Given the description of an element on the screen output the (x, y) to click on. 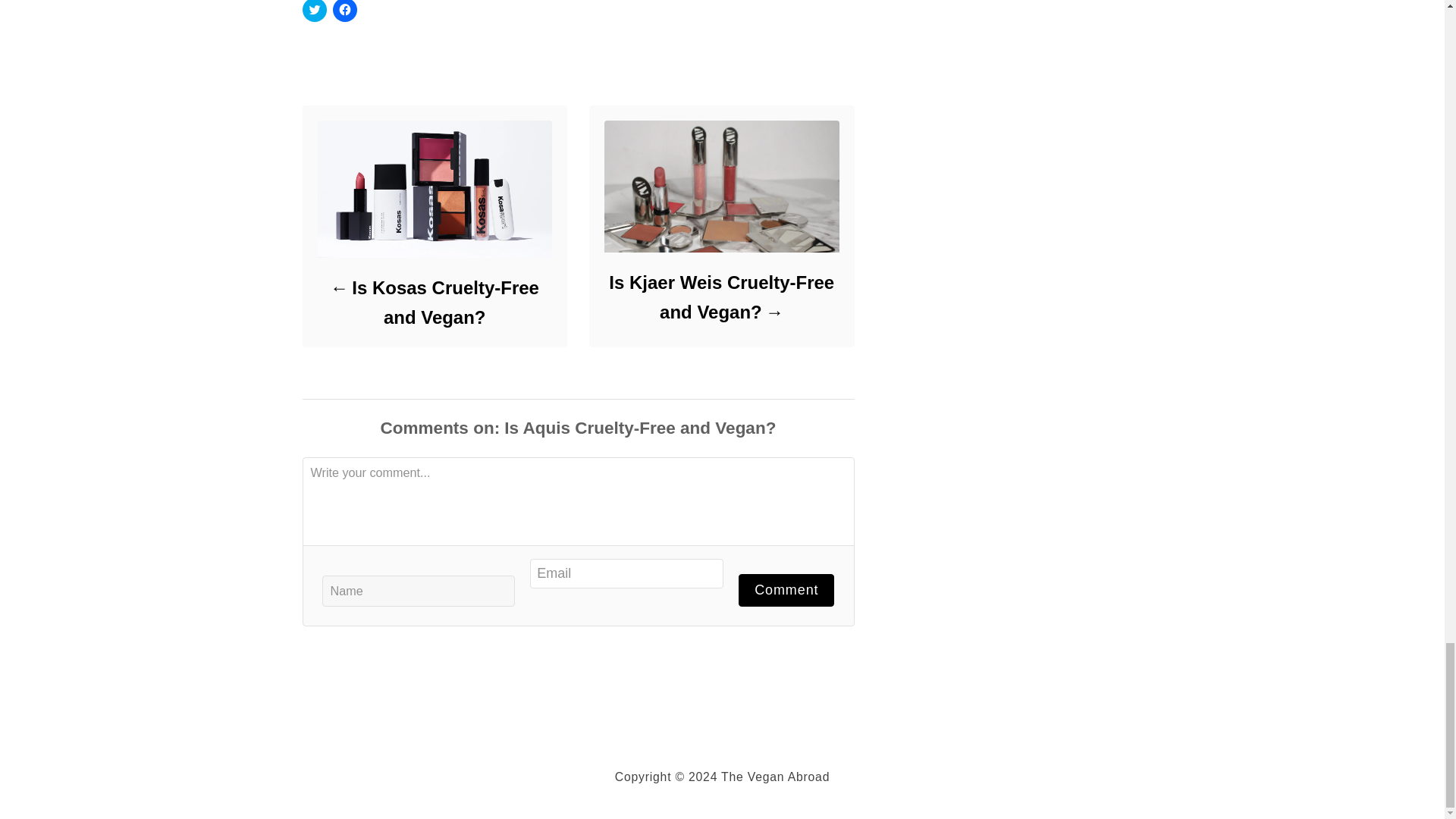
Click to share on Facebook (343, 11)
Click to share on Twitter (313, 11)
